Given the description of an element on the screen output the (x, y) to click on. 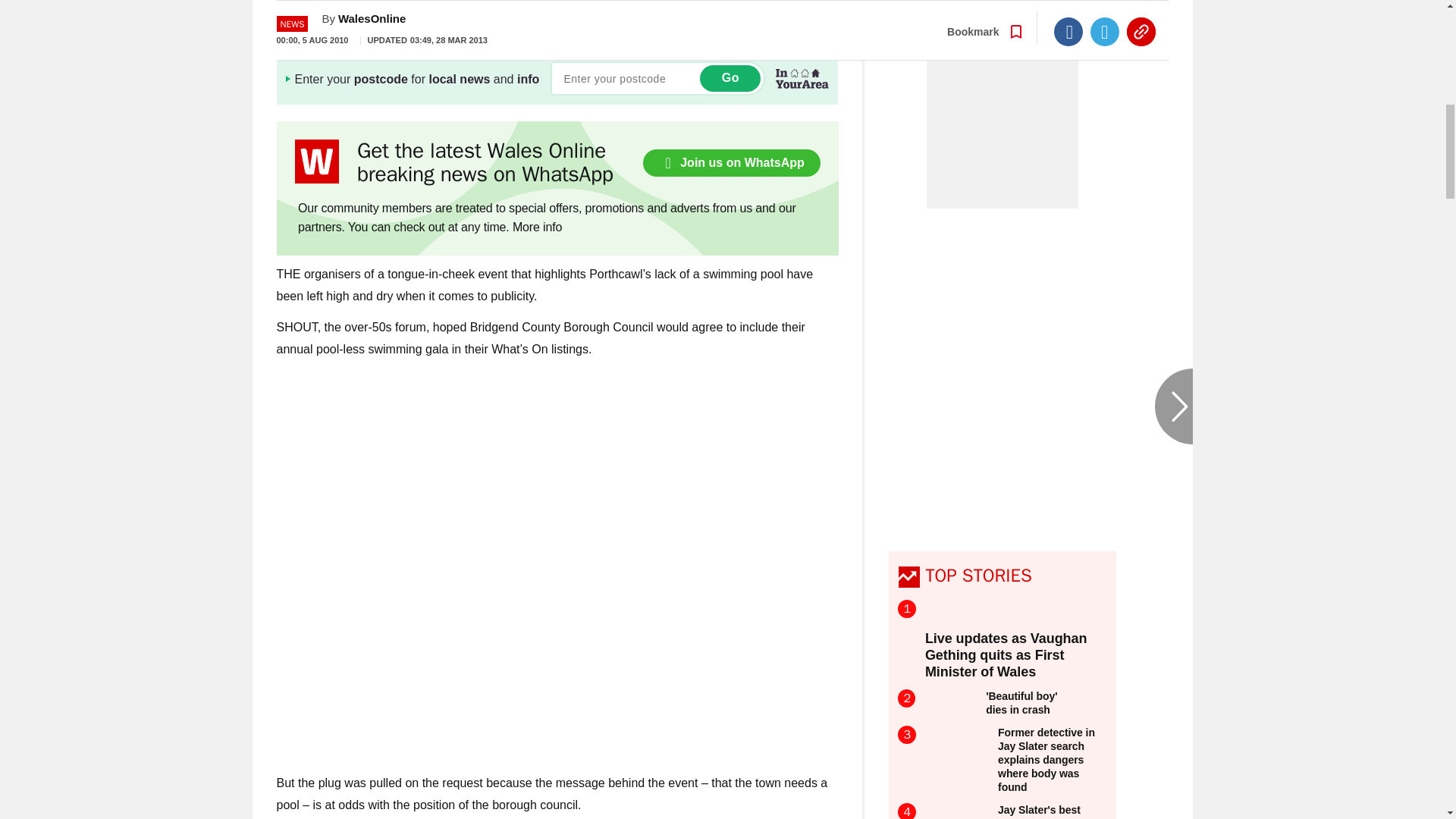
Go (730, 78)
Twitter (1104, 10)
Facebook (1068, 10)
